Given the description of an element on the screen output the (x, y) to click on. 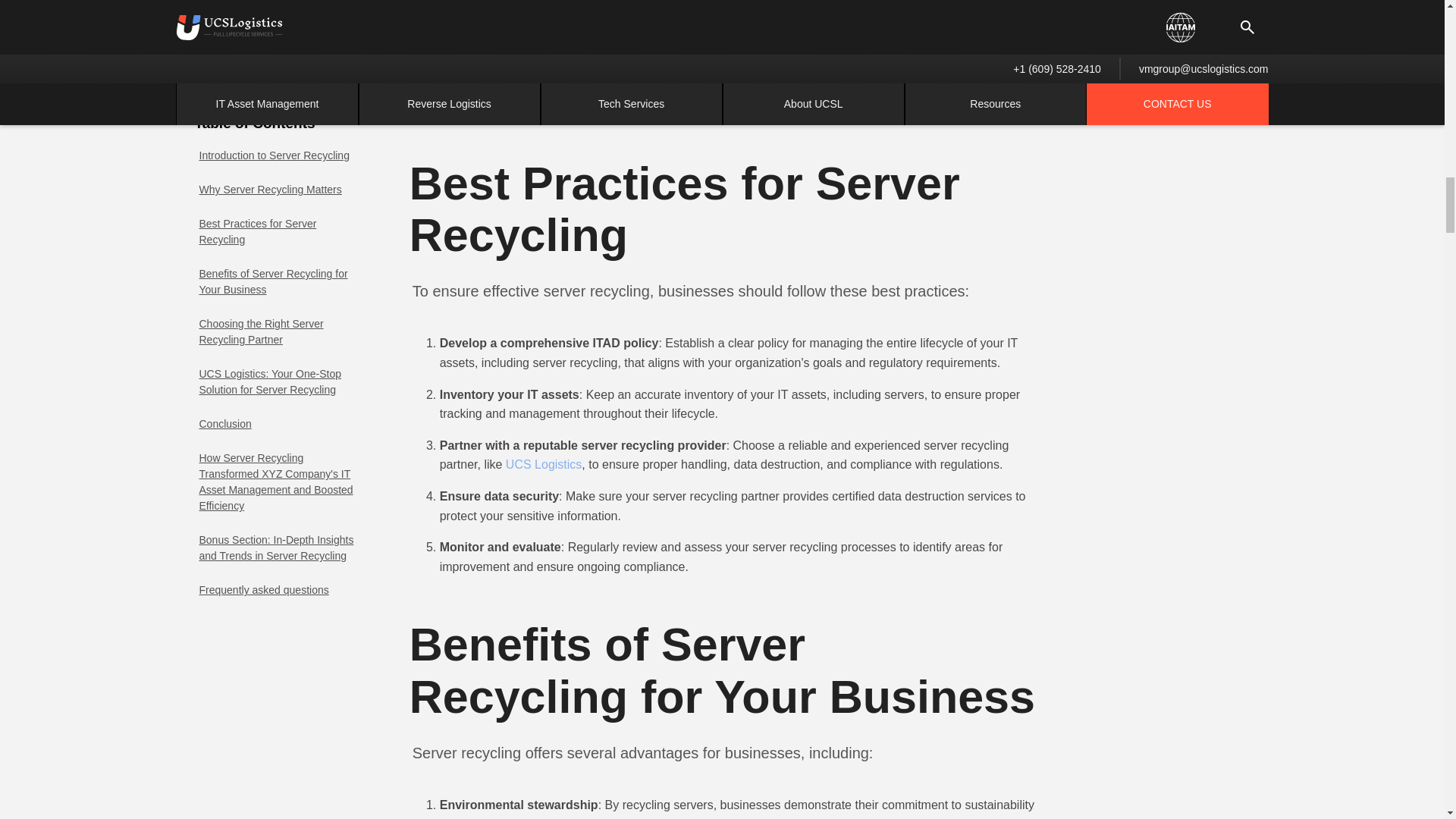
UCS Logistics (542, 463)
